Given the description of an element on the screen output the (x, y) to click on. 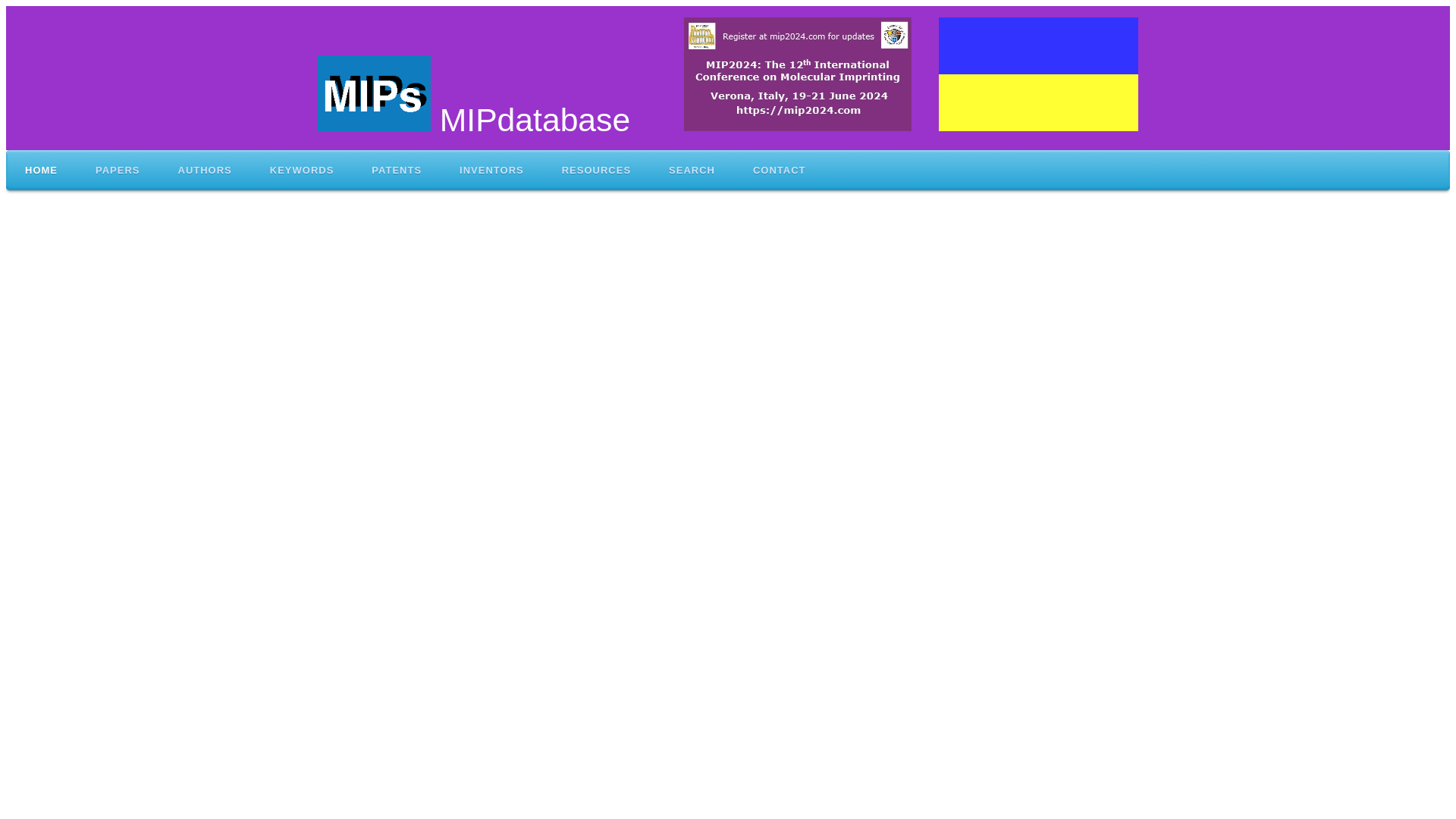
MIPs logo (373, 93)
HOME (41, 169)
Keywords and Templates (301, 169)
PAPERS (117, 169)
